Given the description of an element on the screen output the (x, y) to click on. 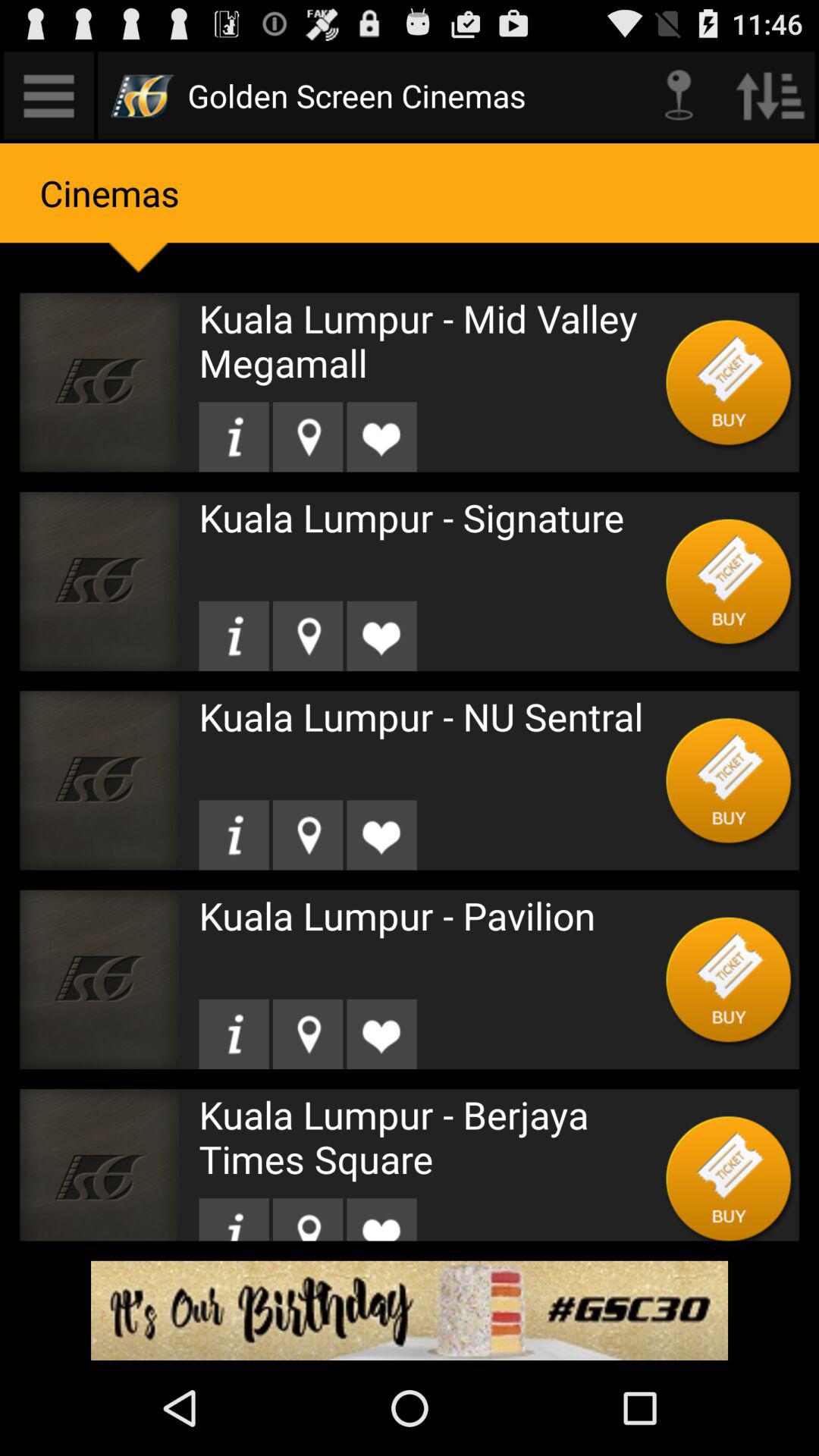
location (307, 1219)
